Given the description of an element on the screen output the (x, y) to click on. 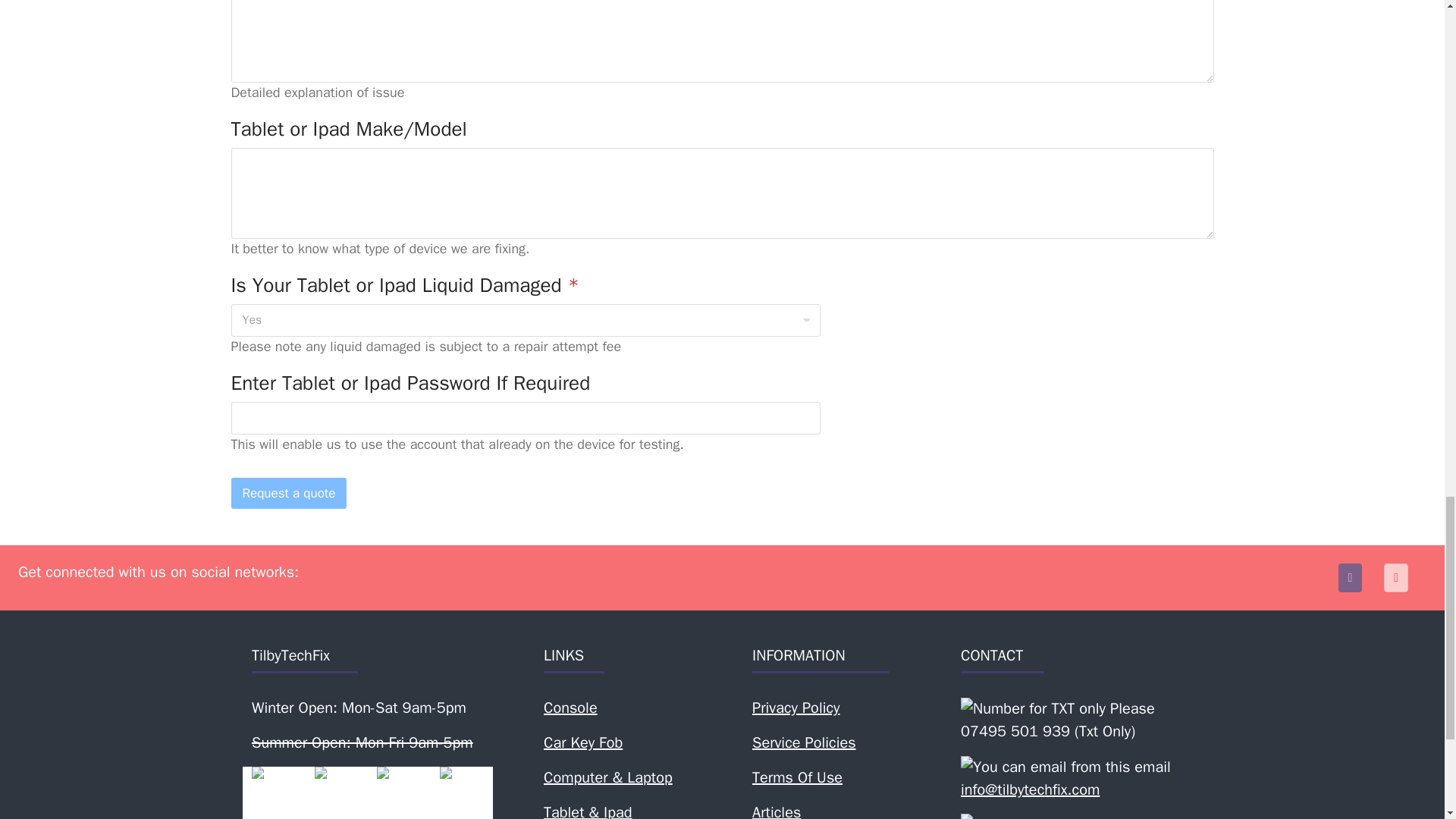
Terms Of Use (797, 777)
Privacy Policy (796, 707)
Book a console repair (569, 707)
Car Key Fob (583, 742)
Console (569, 707)
Facebook (1350, 576)
Articles (776, 811)
Request a quote (288, 492)
Service Policies (804, 742)
Book a key fob repair (583, 742)
